Given the description of an element on the screen output the (x, y) to click on. 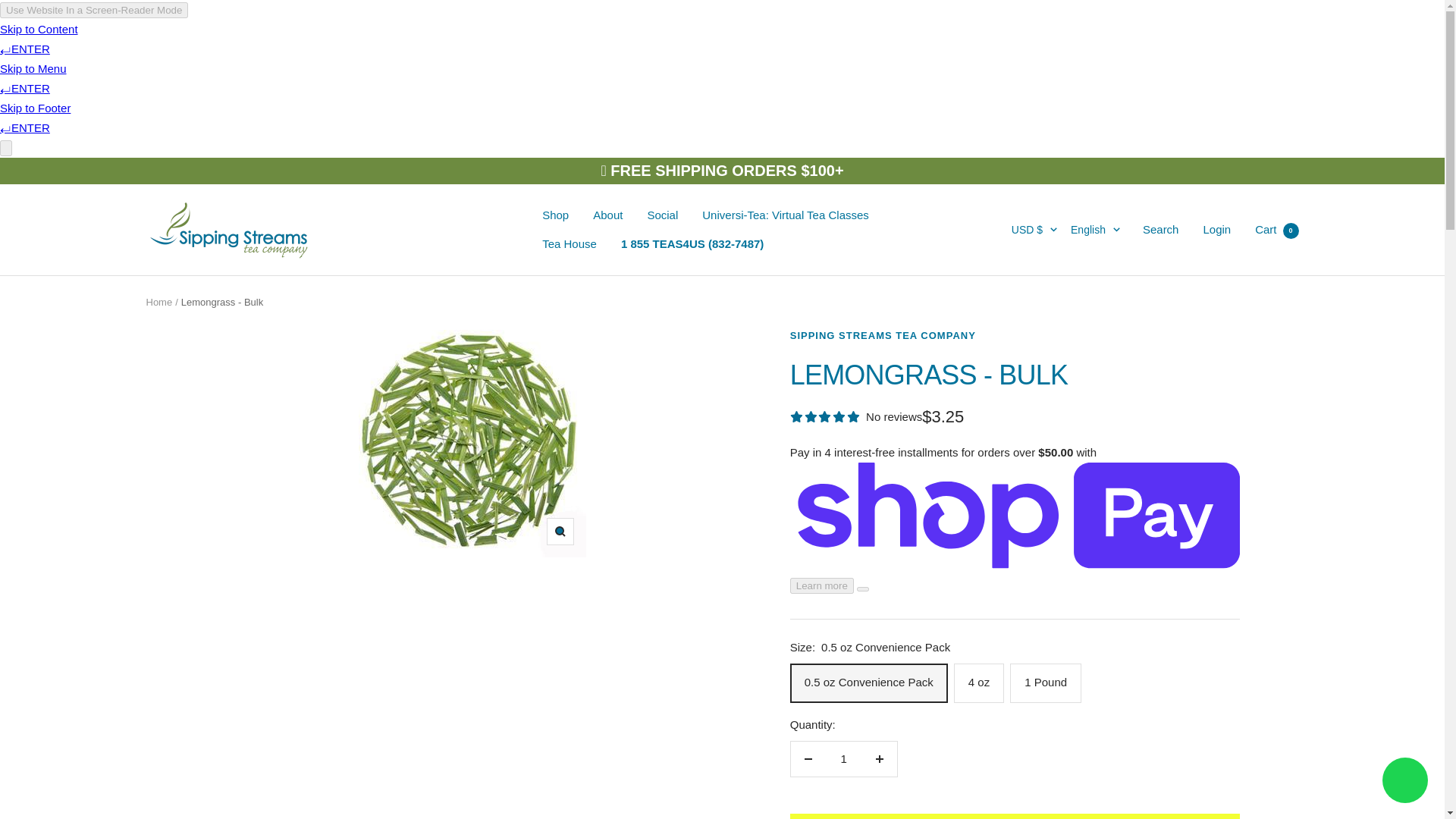
BBD (1017, 506)
Sipping Streams Tea Company (230, 229)
AWG (1017, 431)
BIF (1017, 581)
BSD (1017, 656)
BAM (1017, 481)
AUD (1017, 406)
Tea House (568, 243)
AED (1017, 281)
